Given the description of an element on the screen output the (x, y) to click on. 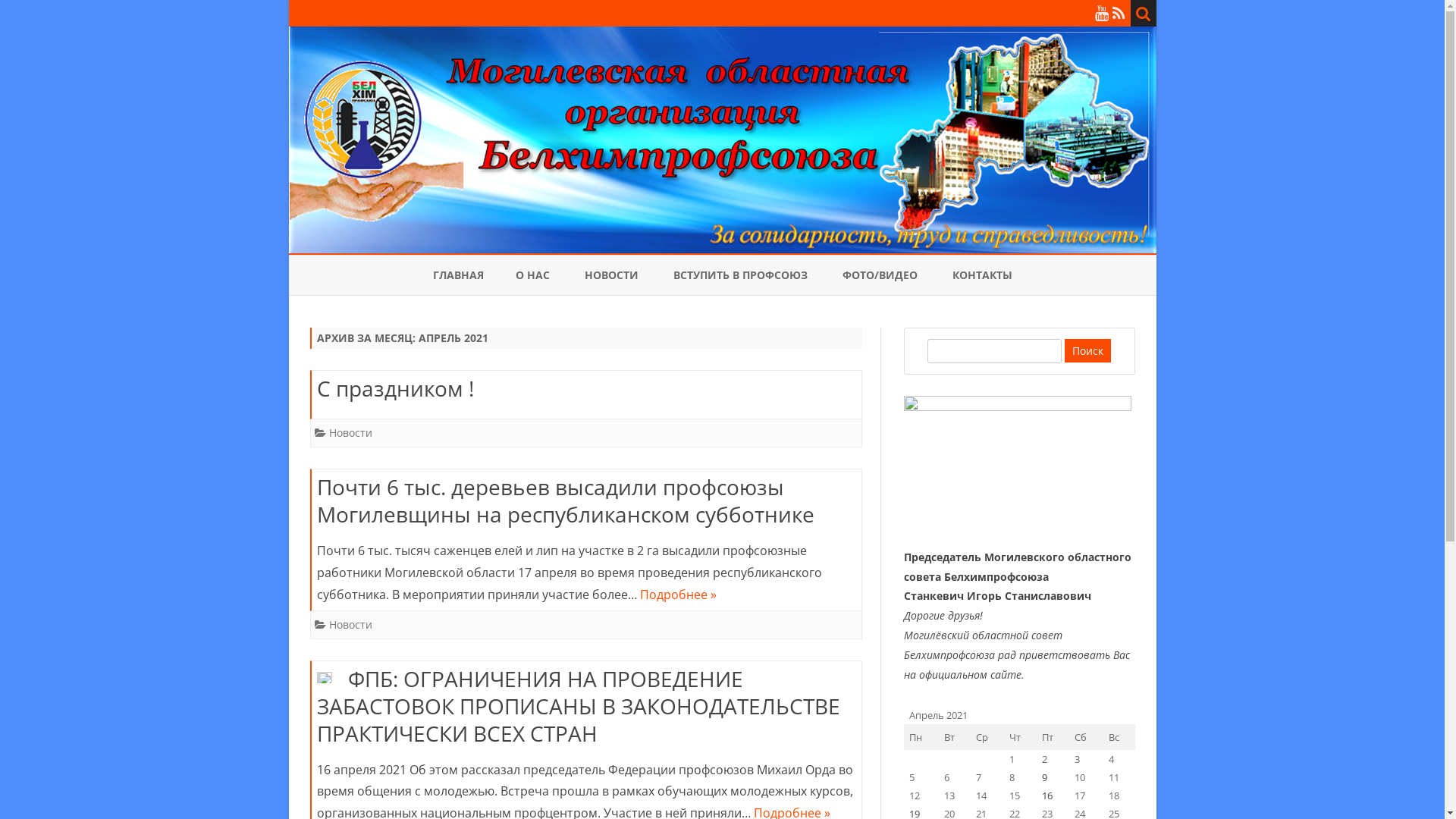
9 Element type: text (1044, 777)
YouTube Element type: hover (1101, 12)
RSS Element type: hover (1117, 12)
16 Element type: text (1046, 795)
